Given the description of an element on the screen output the (x, y) to click on. 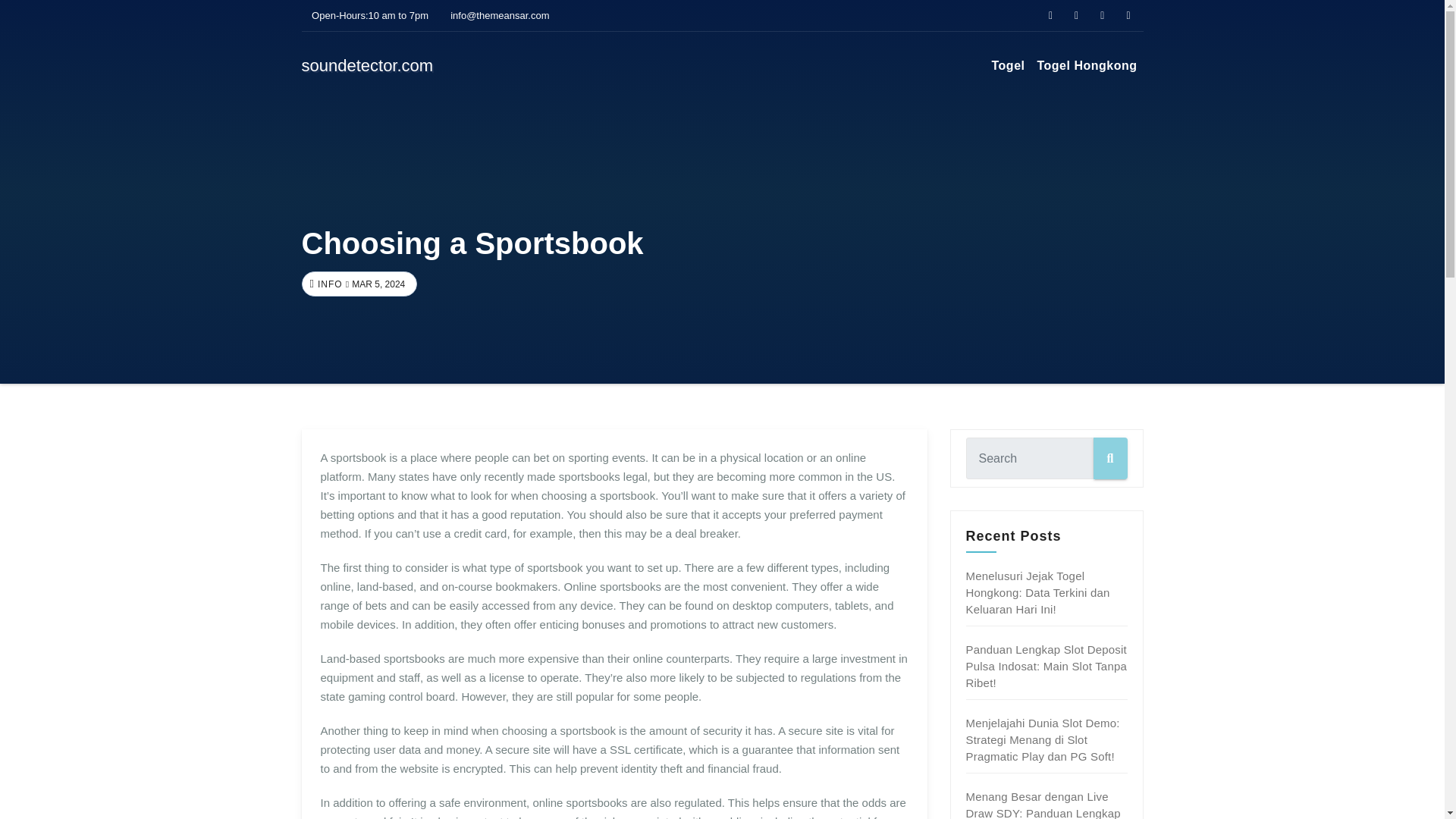
Open-Hours:10 am to 7pm (365, 15)
Togel Hongkong (1086, 65)
soundetector.com (367, 65)
INFO (328, 284)
Togel Hongkong (1086, 65)
